Given the description of an element on the screen output the (x, y) to click on. 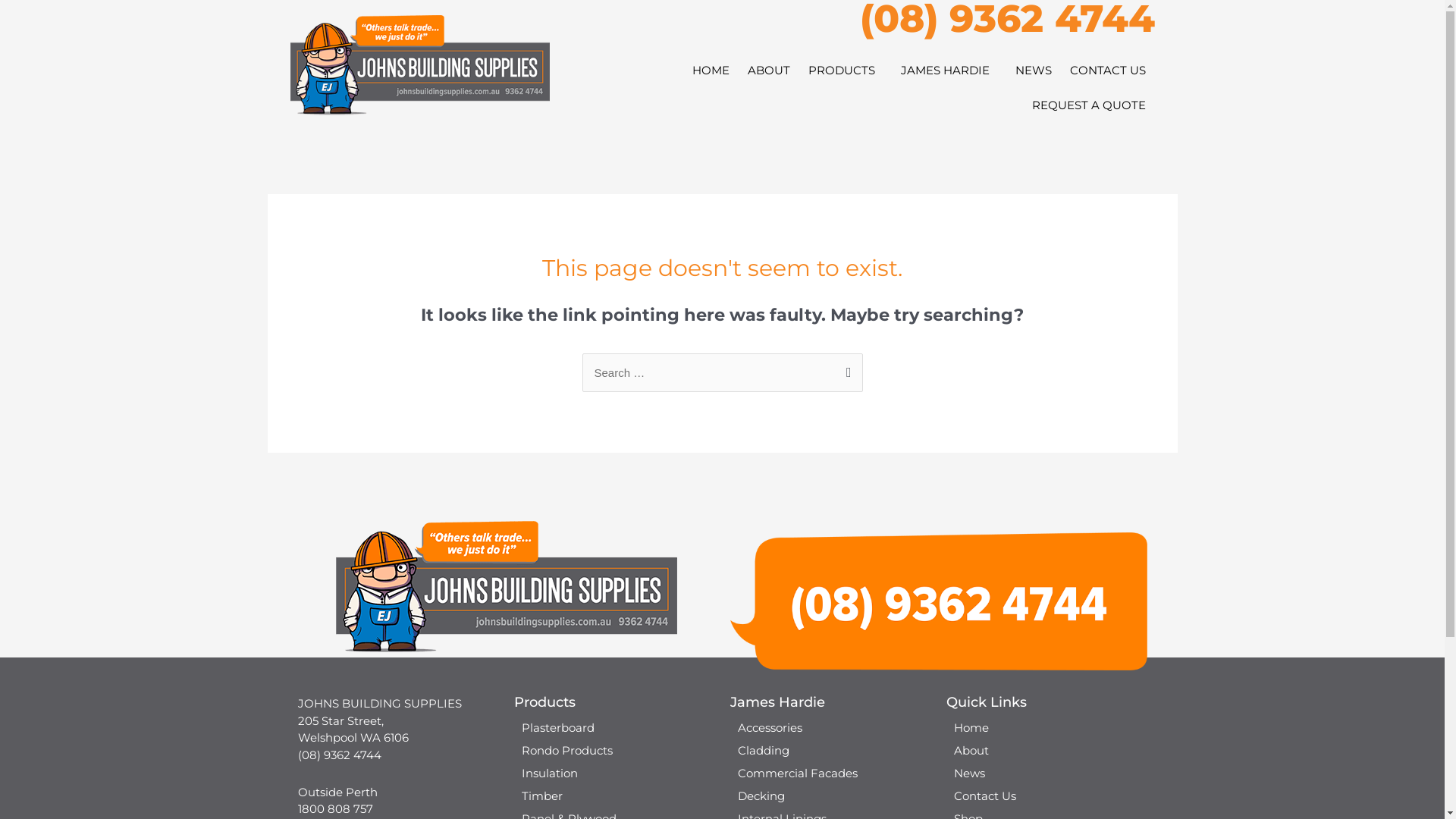
REQUEST A QUOTE Element type: text (1088, 104)
Plasterboard Element type: text (614, 727)
(08) 9362 4744 Element type: text (338, 754)
Commercial Facades Element type: text (829, 773)
JAMES HARDIE Element type: text (948, 70)
Contact Us Element type: text (1046, 795)
Accessories Element type: text (829, 727)
PRODUCTS Element type: text (845, 70)
Decking Element type: text (829, 795)
Home Element type: text (1046, 727)
Search Element type: text (845, 368)
Cladding Element type: text (829, 750)
News Element type: text (1046, 773)
About Element type: text (1046, 750)
Timber Element type: text (614, 795)
1800 808 757 Element type: text (334, 808)
Rondo Products Element type: text (614, 750)
HOME Element type: text (709, 70)
NEWS Element type: text (1032, 70)
ABOUT Element type: text (768, 70)
CONTACT US Element type: text (1107, 70)
Insulation Element type: text (614, 773)
